Given the description of an element on the screen output the (x, y) to click on. 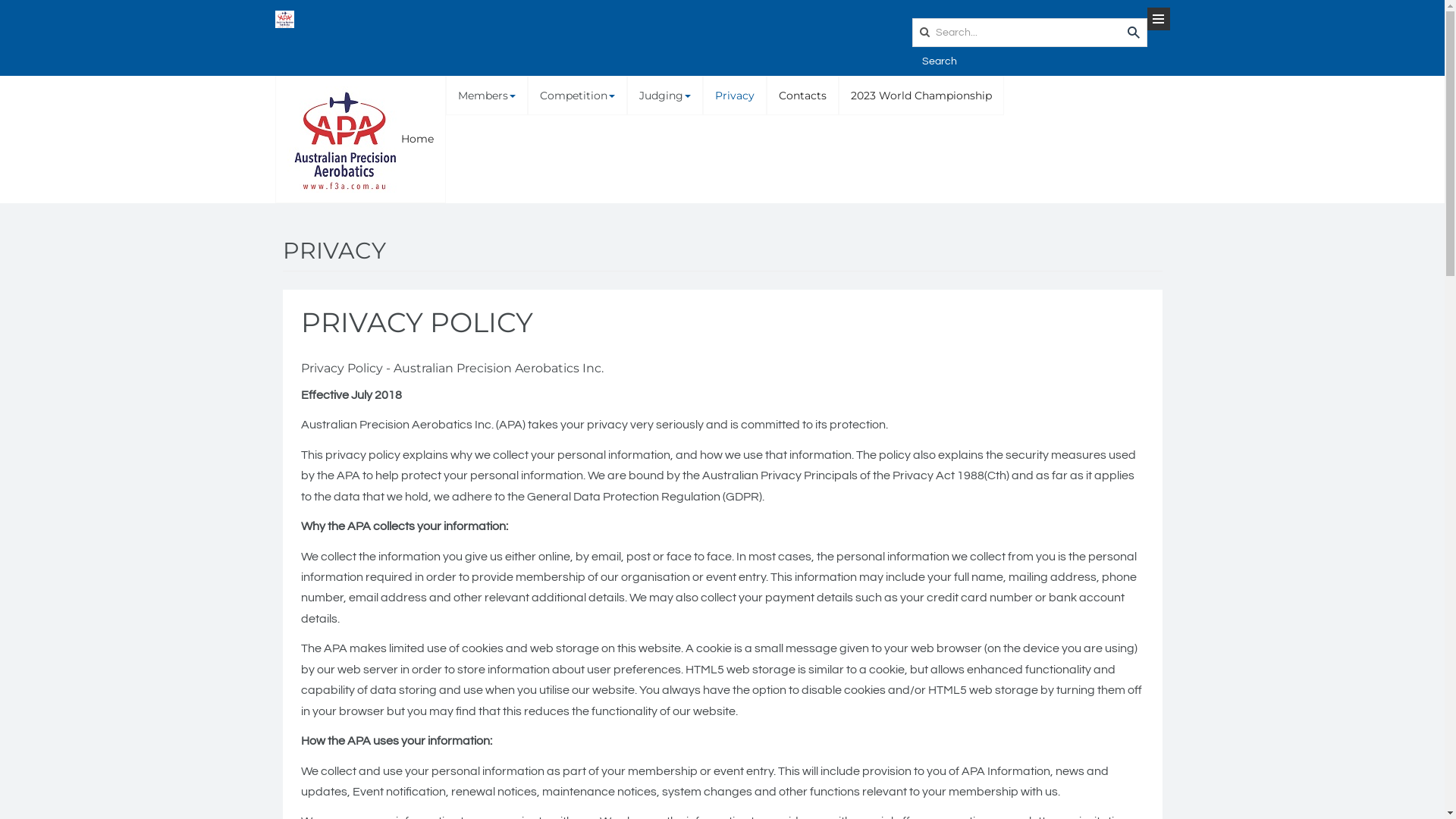
open Element type: hover (1157, 18)
Contacts Element type: text (802, 95)
Home Element type: text (360, 139)
Australian Precision Aerobatics Inc. Element type: hover (284, 19)
Privacy Element type: text (734, 95)
Search Element type: text (938, 61)
PRIVACY POLICY Element type: text (416, 321)
2023 World Championship Element type: text (920, 95)
